Given the description of an element on the screen output the (x, y) to click on. 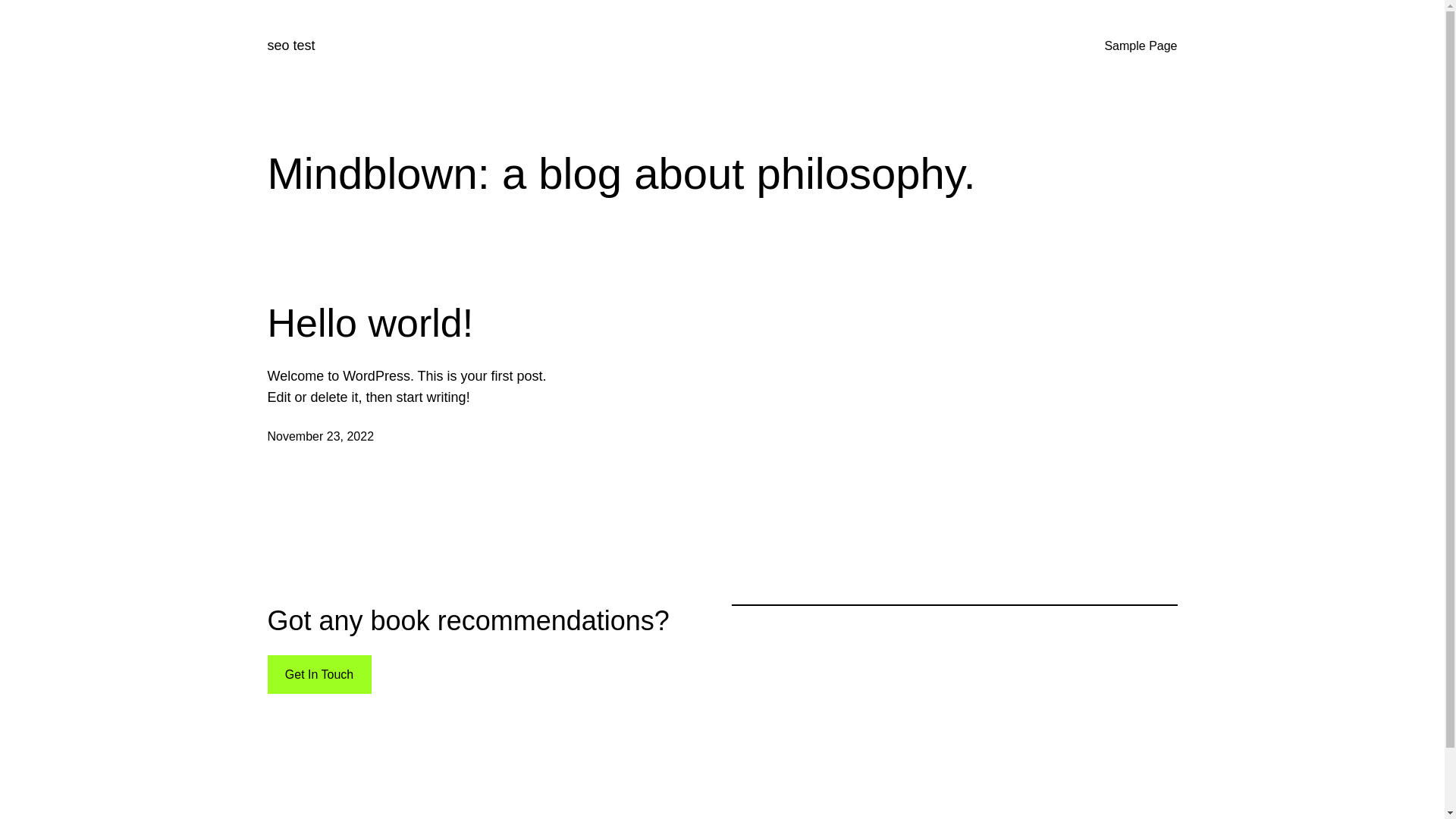
seo test Element type: text (290, 45)
Get In Touch Element type: text (318, 674)
Sample Page Element type: text (1140, 46)
November 23, 2022 Element type: text (319, 435)
Hello world! Element type: text (369, 322)
